Given the description of an element on the screen output the (x, y) to click on. 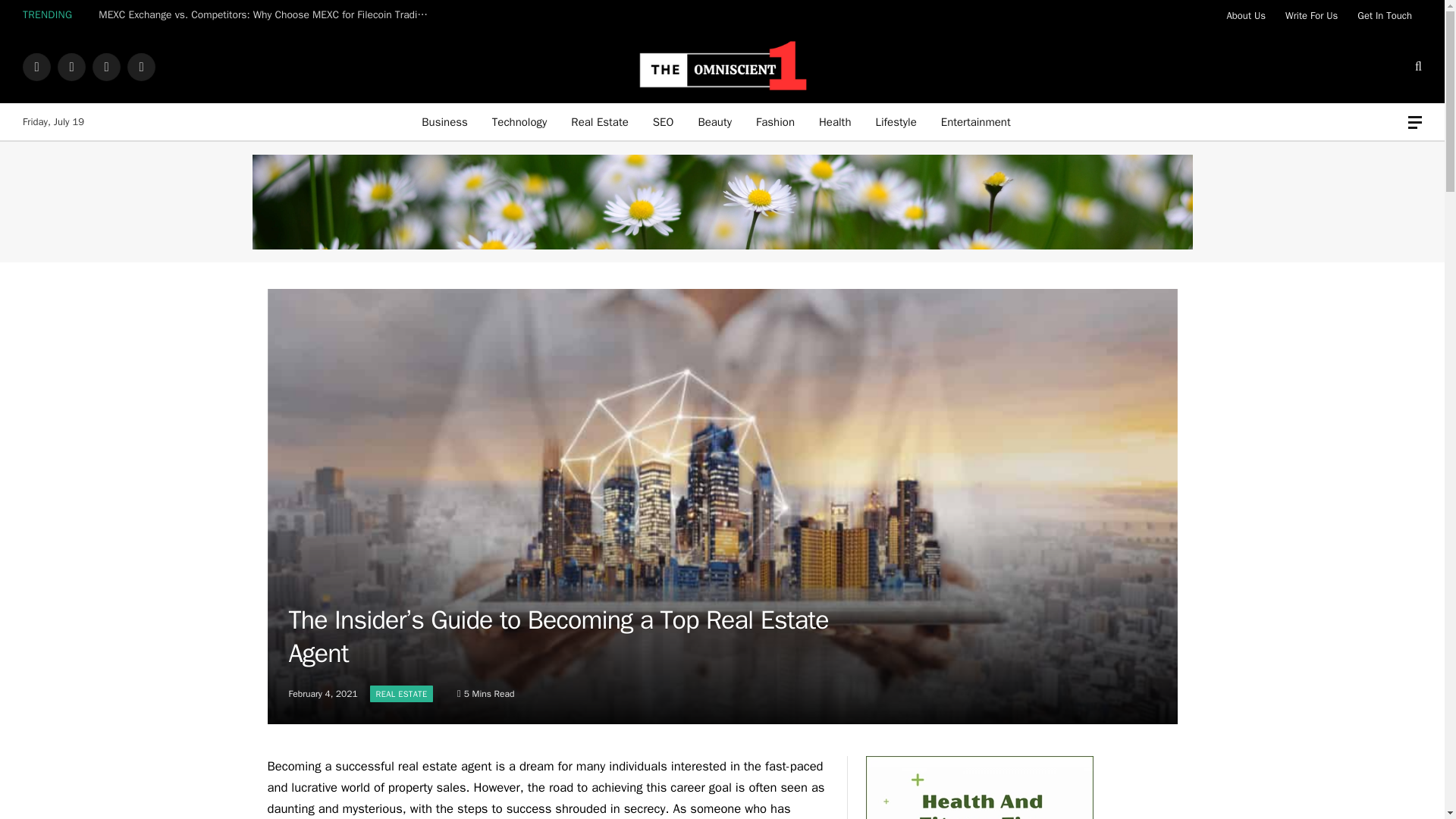
Search (1417, 66)
Lifestyle (895, 122)
Facebook (36, 67)
Pinterest (141, 67)
Instagram (106, 67)
Health (834, 122)
Business (444, 122)
Write For Us (1311, 15)
The Omniscient One (721, 66)
Technology (519, 122)
Twitter (71, 67)
SEO (662, 122)
Beauty (714, 122)
Fashion (775, 122)
